Given the description of an element on the screen output the (x, y) to click on. 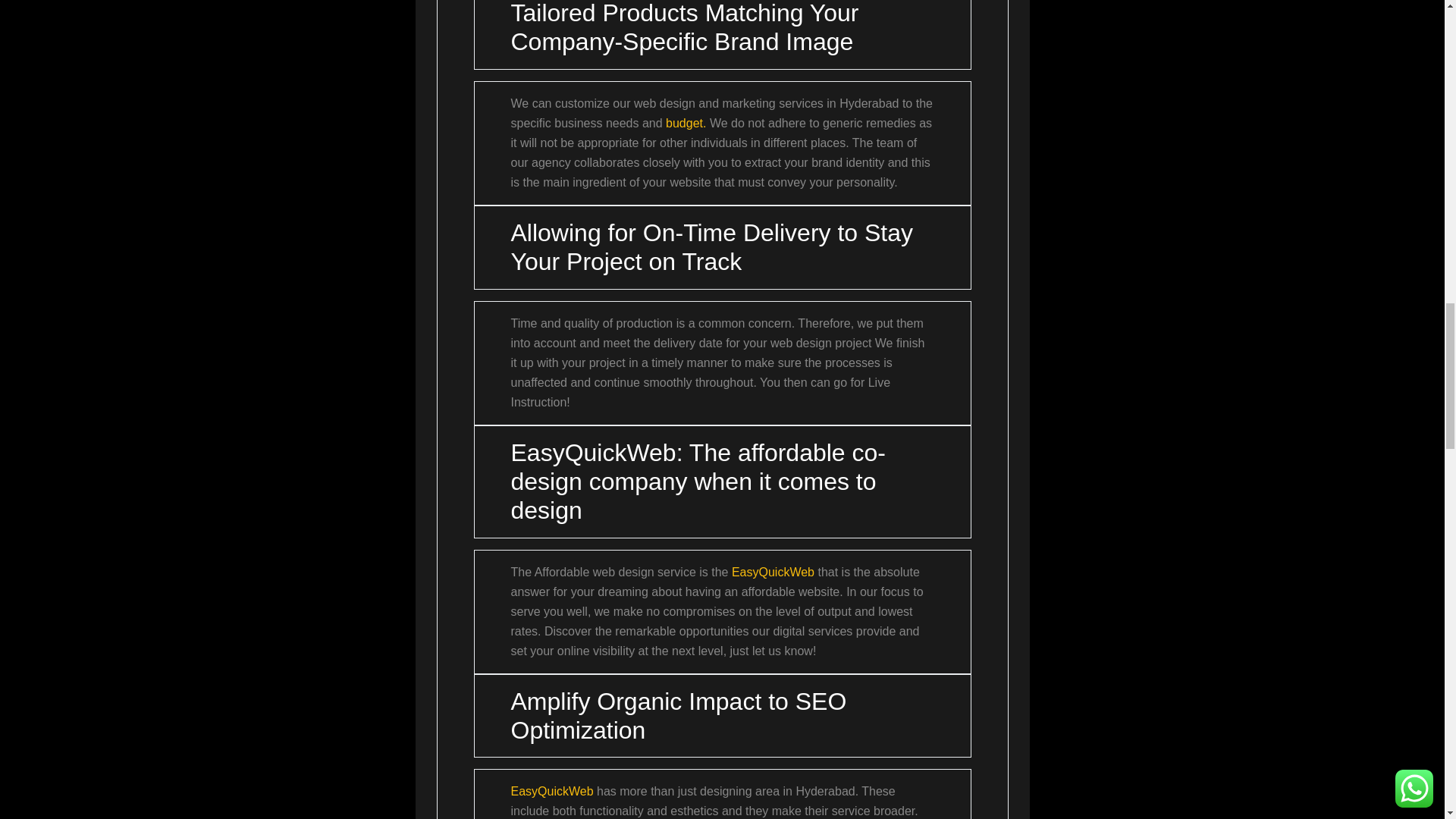
budget. (684, 123)
EasyQuickWeb (772, 571)
EasyQuickWeb (552, 790)
